Given the description of an element on the screen output the (x, y) to click on. 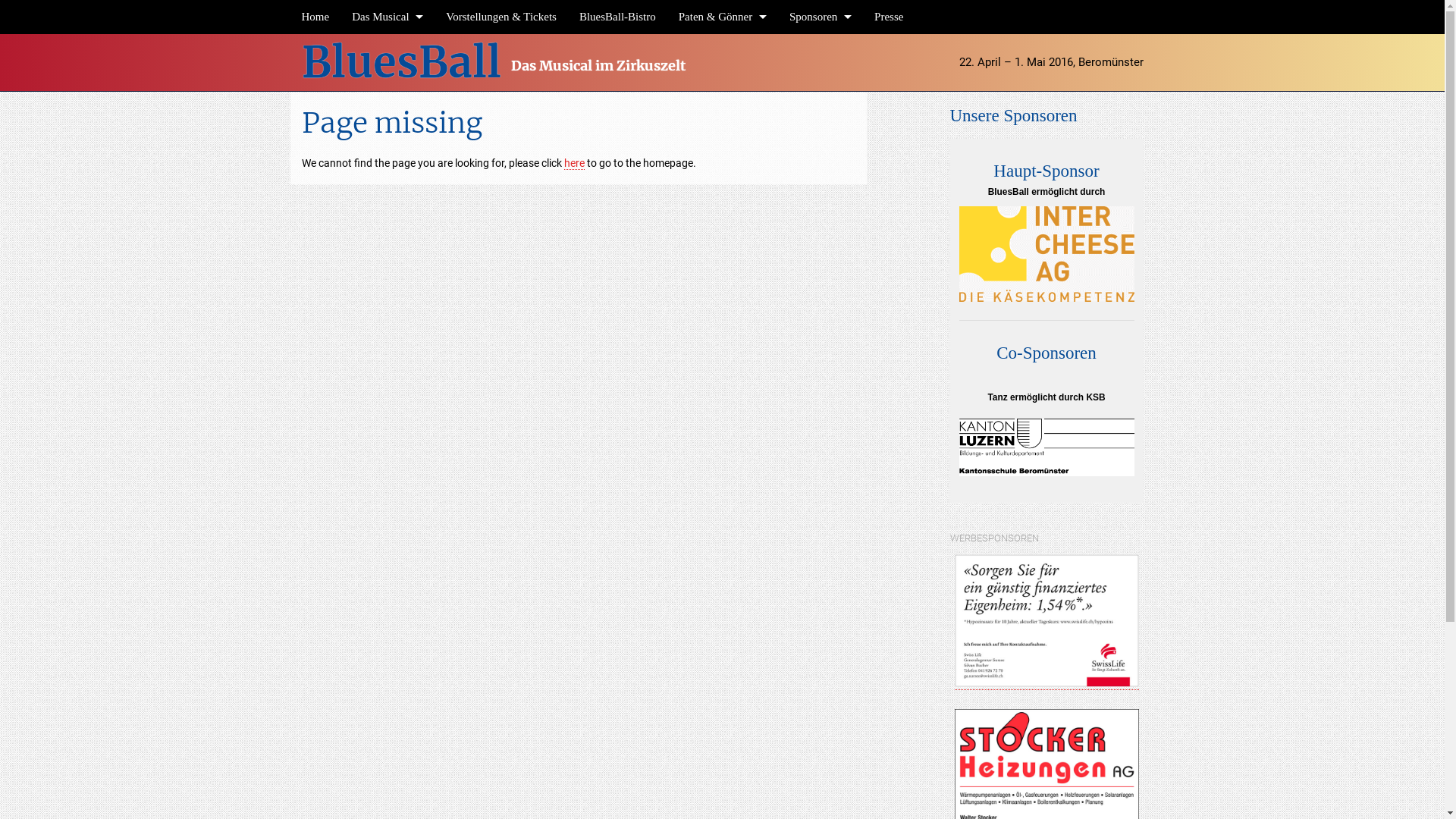
BluesBall-Bistro Element type: text (617, 17)
Presse Element type: text (888, 17)
Vorstellungen & Tickets Element type: text (500, 17)
Sponsoren Element type: text (820, 17)
Das Musical Element type: text (387, 17)
BluesBall Element type: text (401, 61)
here Element type: text (574, 162)
Home Element type: text (314, 17)
